Given the description of an element on the screen output the (x, y) to click on. 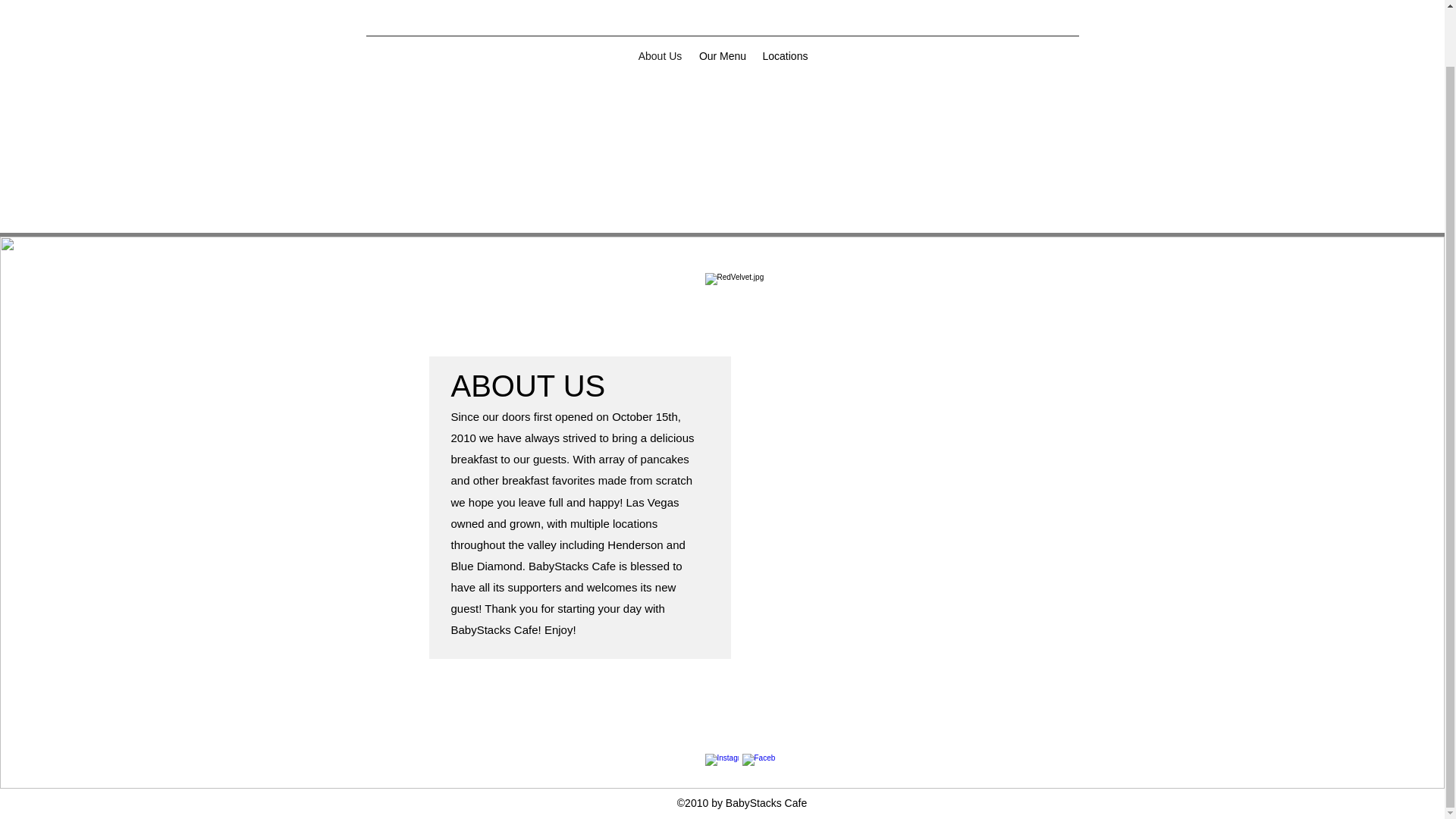
Locations (785, 56)
About Us (659, 56)
Our Menu (722, 56)
BSCircleLogo.png (730, 6)
